Given the description of an element on the screen output the (x, y) to click on. 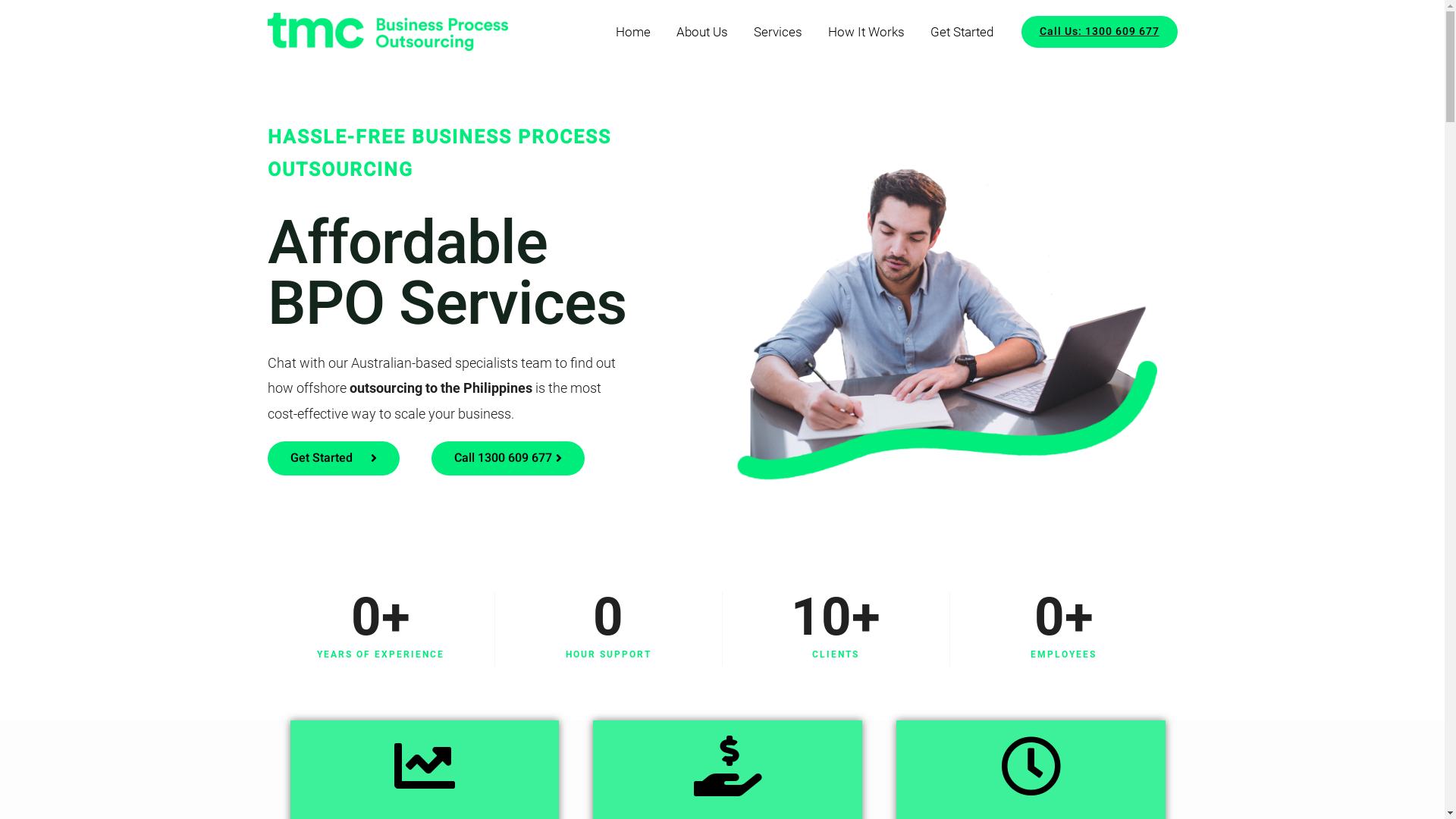
How It Works Element type: text (865, 31)
Get Started Element type: text (961, 31)
Call Us: 1300 609 677 Element type: text (1098, 31)
Services Element type: text (777, 31)
About Us Element type: text (701, 31)
Get Started Element type: text (332, 458)
Home Element type: text (632, 31)
Call 1300 609 677 Element type: text (507, 458)
